Given the description of an element on the screen output the (x, y) to click on. 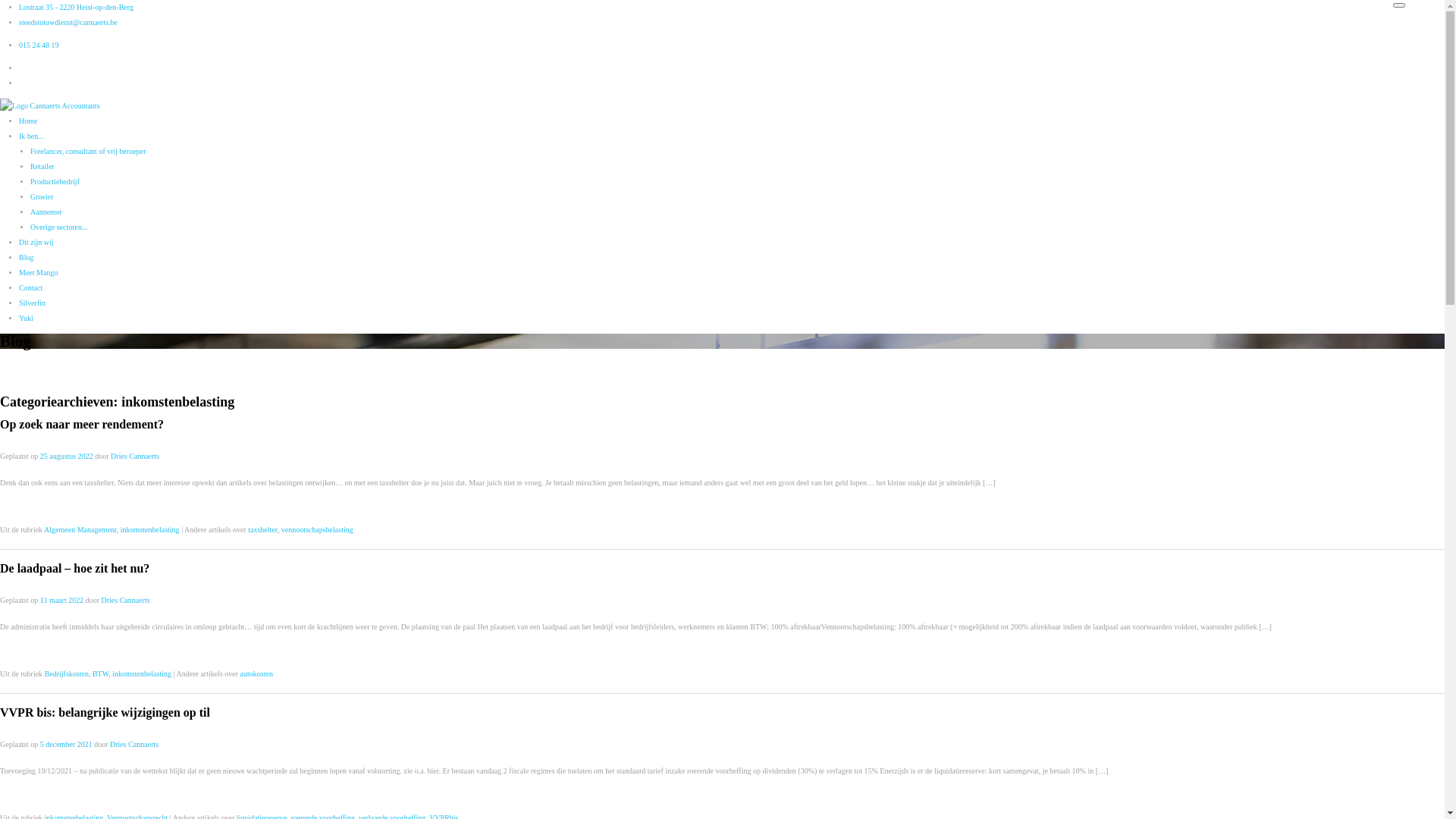
Productiebedrijf Element type: text (54, 181)
015 24 48 19 Element type: text (38, 44)
Yuki Element type: text (25, 317)
Lees meer... Element type: text (18, 649)
inkomstenbelasting Element type: text (141, 673)
vennootschapsbelasting Element type: text (317, 529)
11 maart 2022 Element type: text (61, 600)
Lees meer... Element type: text (18, 505)
BTW Element type: text (100, 673)
Lees meer... Element type: text (18, 793)
Overige sectoren... Element type: text (58, 226)
Silverfin Element type: text (31, 302)
Aannemer Element type: text (46, 211)
Retailer Element type: text (42, 166)
Dries Cannaerts Element type: text (133, 744)
Home Element type: text (27, 120)
steedstotuwdienst@cannaerts.be Element type: text (67, 22)
Dries Cannaerts Element type: text (134, 455)
Blog Element type: text (25, 257)
Ik ben... Element type: text (30, 135)
Bedrijfskosten Element type: text (66, 673)
Freelancer, consultant of vrij beroeper Element type: text (88, 151)
taxshelter Element type: text (261, 529)
VVPR bis: belangrijke wijzigingen op til Element type: text (105, 712)
Meet Mango Element type: text (37, 272)
inkomstenbelasting Element type: text (149, 529)
25 augustus 2022 Element type: text (66, 455)
Dit zijn wij Element type: text (35, 242)
Dries Cannaerts Element type: text (125, 600)
5 december 2021 Element type: text (66, 744)
Op zoek naar meer rendement? Element type: text (81, 423)
Contact Element type: text (30, 287)
Groeier Element type: text (41, 196)
Algemeen Management Element type: text (79, 529)
autokosten Element type: text (256, 673)
Zoek Element type: text (20, 9)
Lostraat 35 - 2220 Heist-op-den-Berg Element type: text (75, 7)
